Given the description of an element on the screen output the (x, y) to click on. 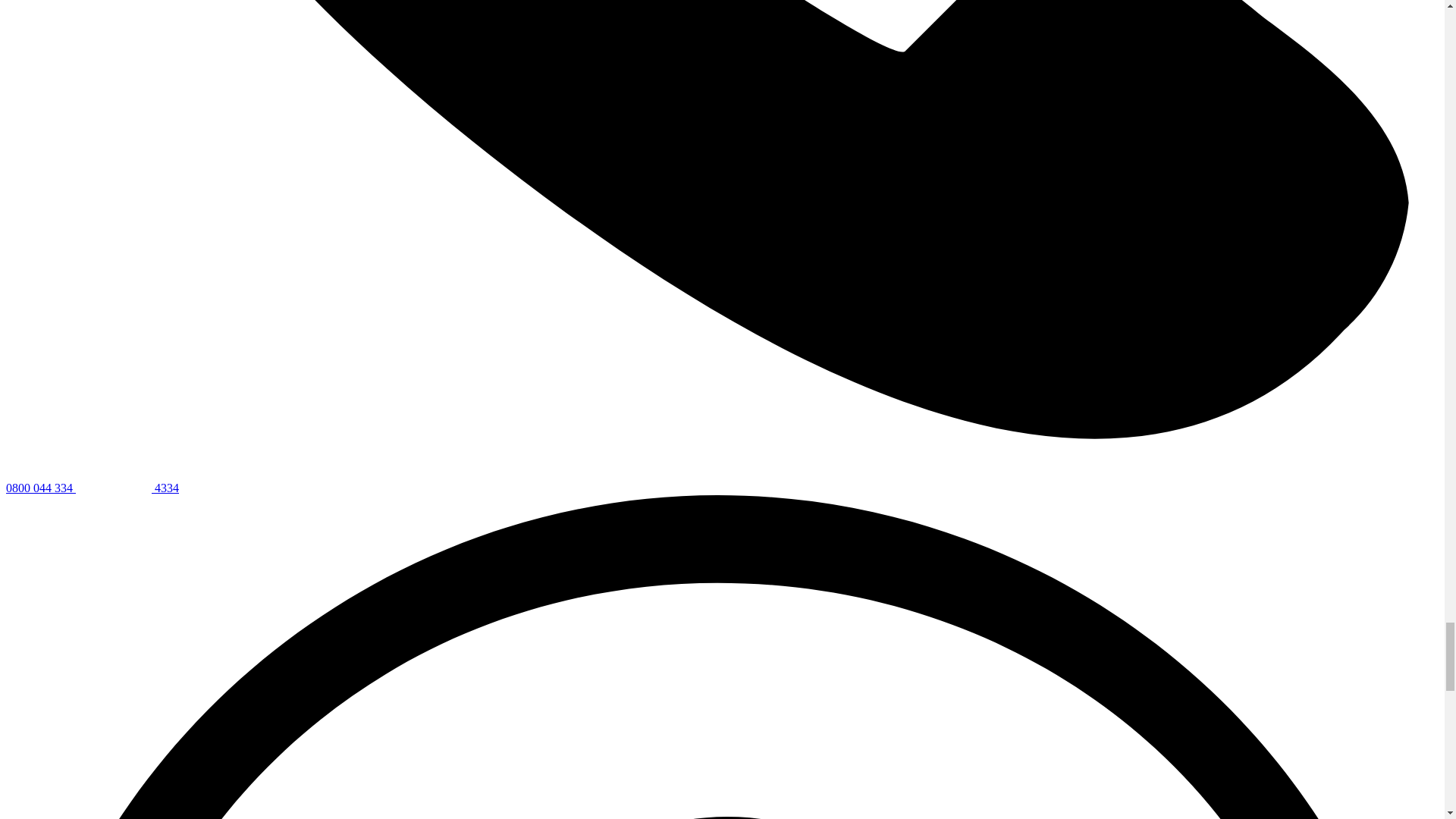
4334 (127, 487)
